Given the description of an element on the screen output the (x, y) to click on. 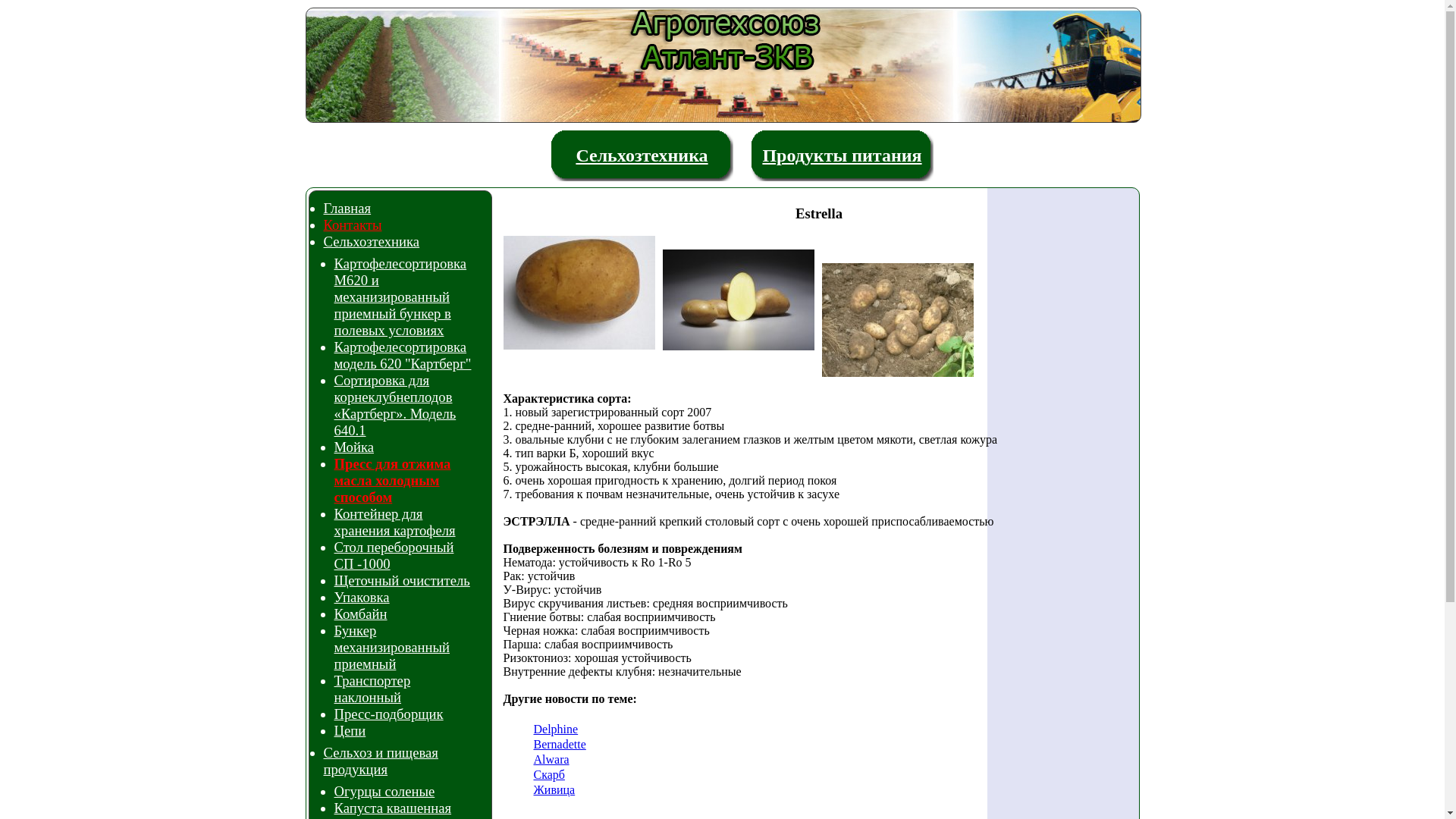
Estrella Element type: hover (742, 303)
Alwara Element type: text (551, 759)
Delphine Element type: text (555, 728)
Bernadette Element type: text (559, 743)
Estrella Element type: hover (901, 323)
Estrella Element type: hover (582, 296)
